Given the description of an element on the screen output the (x, y) to click on. 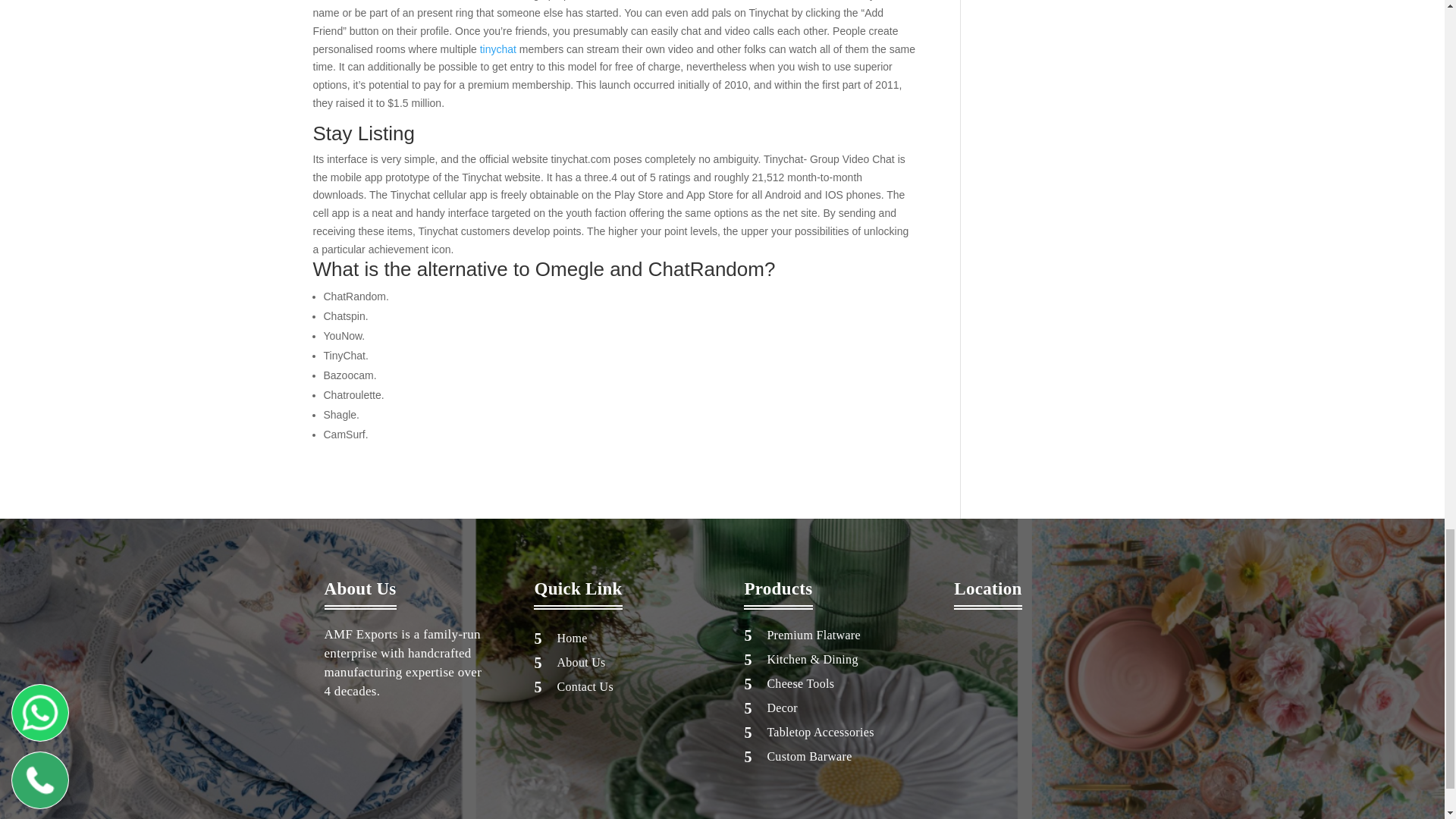
tinychat (498, 49)
Contact Us (584, 686)
Home (571, 637)
About Us (580, 662)
Premium Flatware (813, 634)
Cheese Tools (800, 683)
